Given the description of an element on the screen output the (x, y) to click on. 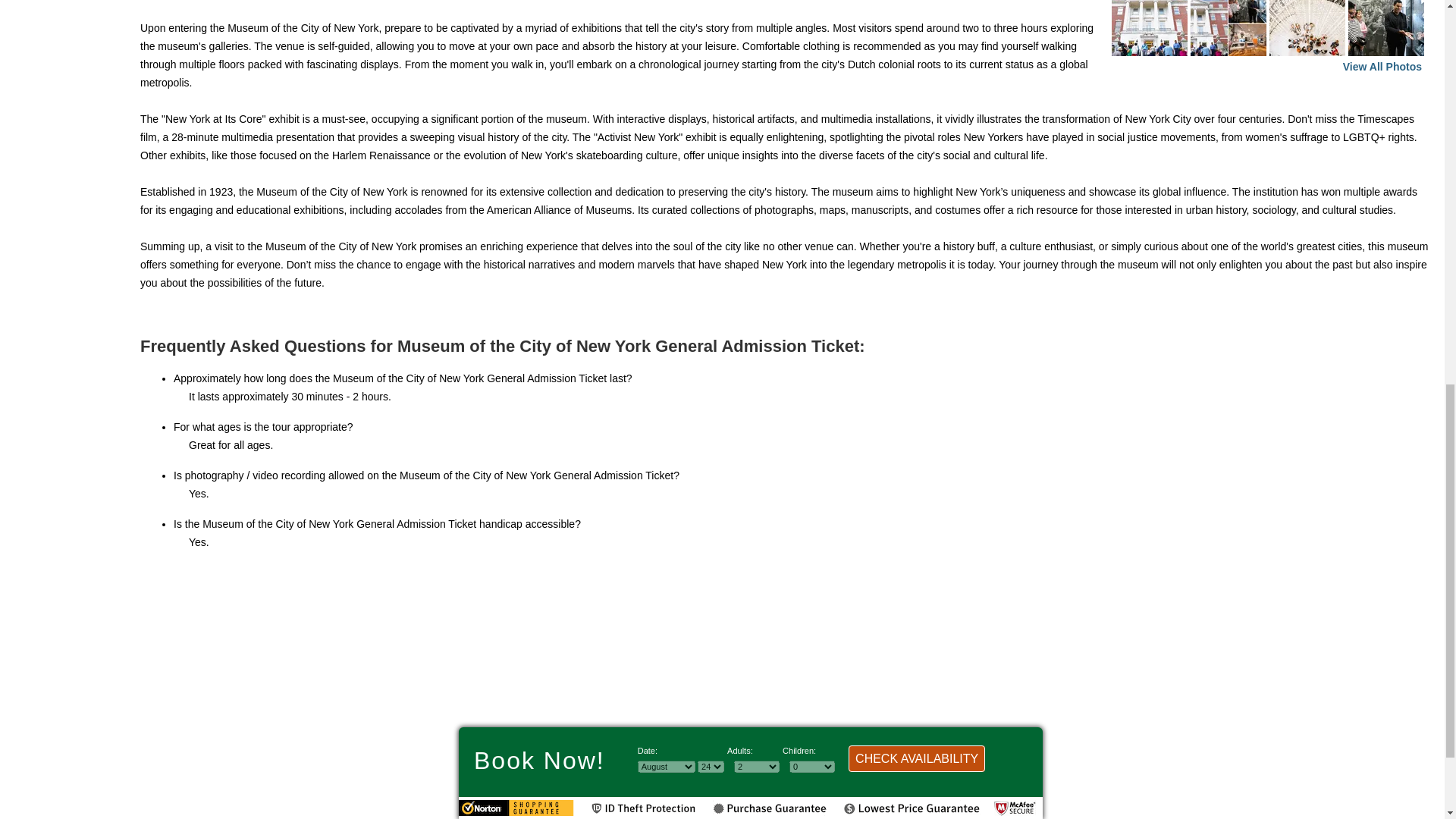
About (676, 746)
Site Map (721, 746)
Terms (767, 746)
View All Photos (1382, 66)
